Given the description of an element on the screen output the (x, y) to click on. 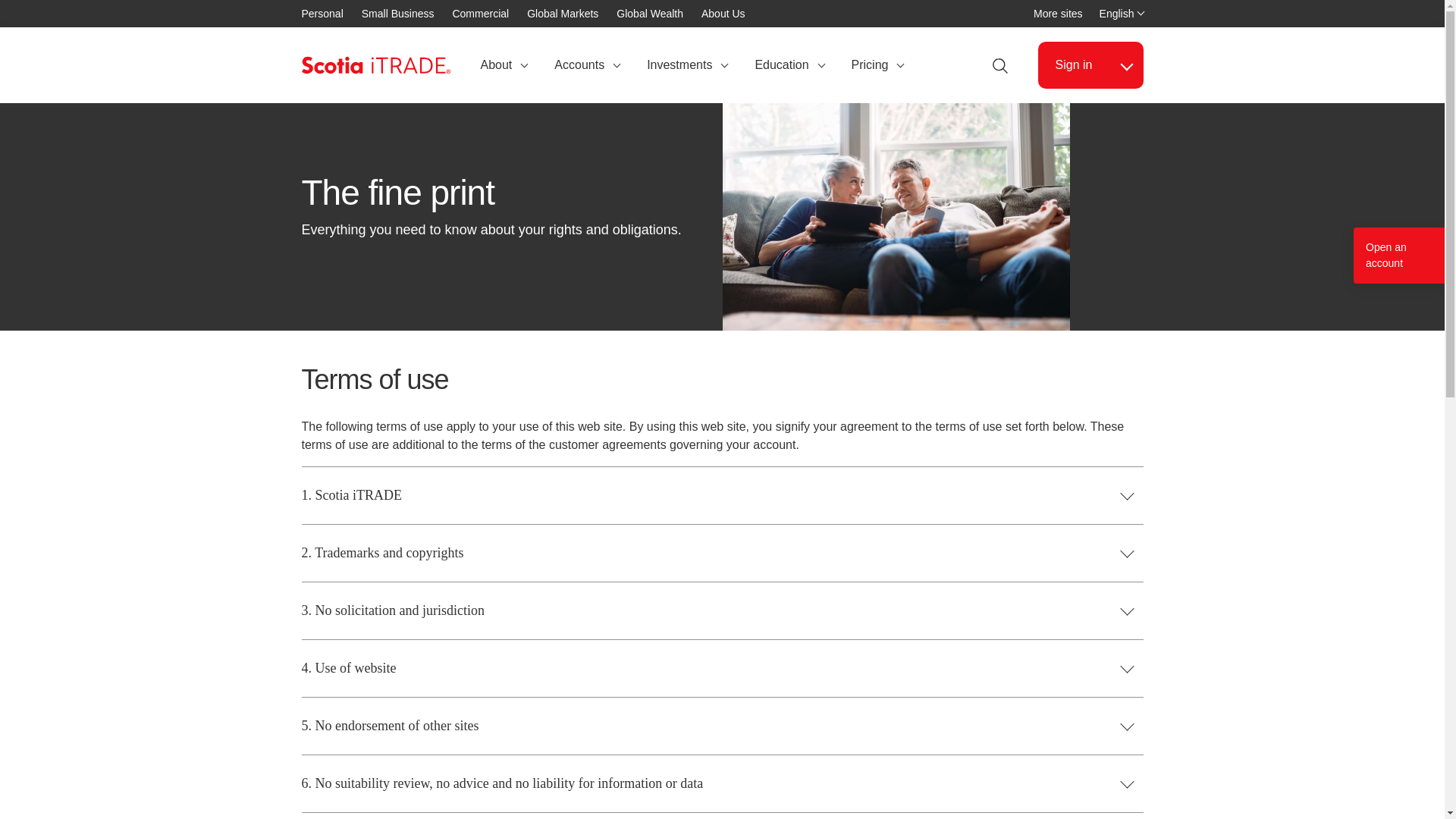
Commercial (479, 13)
Global Markets (562, 13)
About Us (723, 13)
More sites (1118, 13)
Small Business (1058, 13)
Investments (397, 13)
Global Wealth (686, 65)
Education (648, 13)
Personal (789, 65)
